Given the description of an element on the screen output the (x, y) to click on. 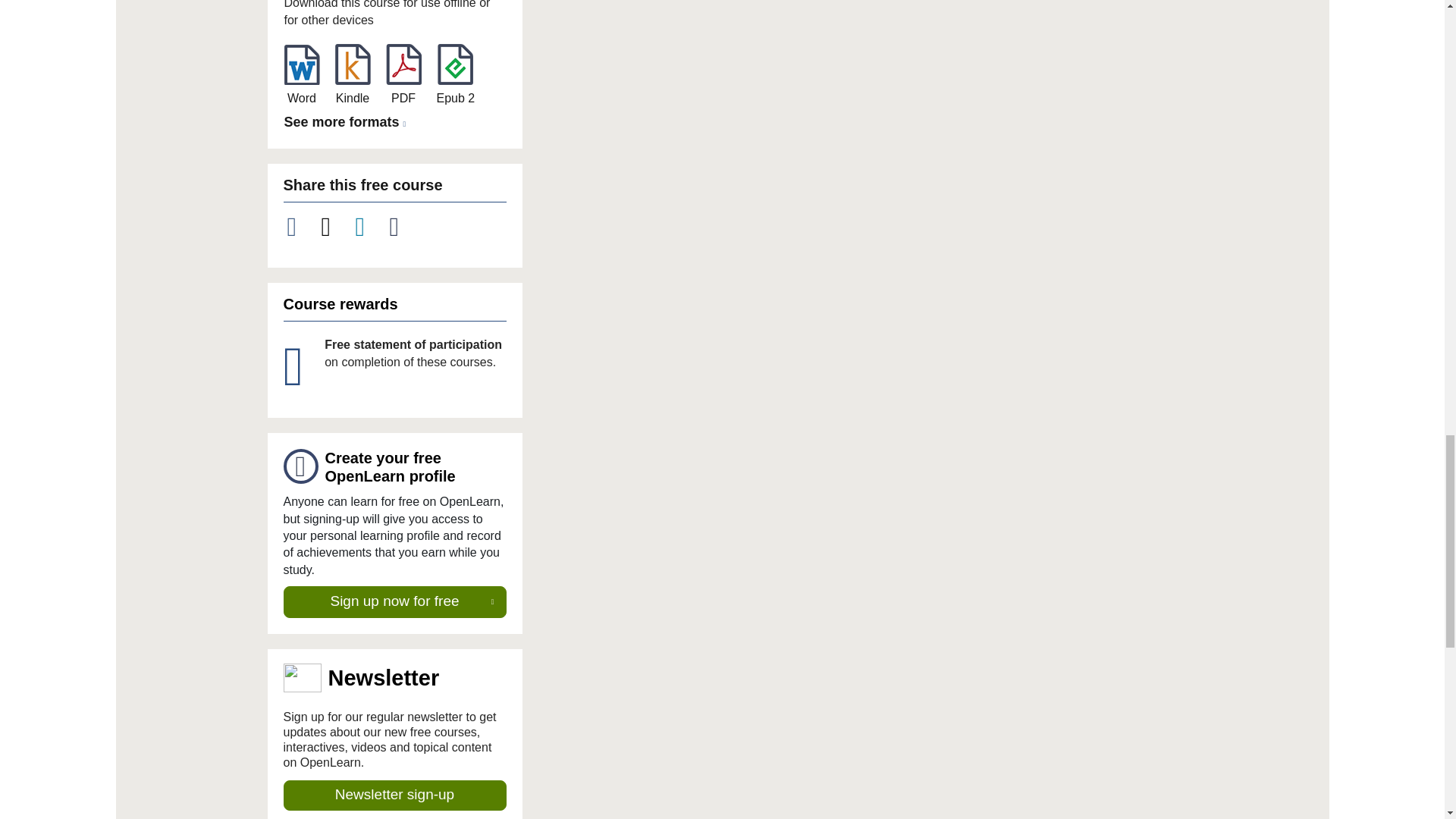
Share on LinkedIn (368, 226)
Share on Facebook (299, 226)
See more formats (347, 122)
Share via Email (403, 226)
Share on Twitter (334, 226)
Sign up now for free (394, 602)
